Given the description of an element on the screen output the (x, y) to click on. 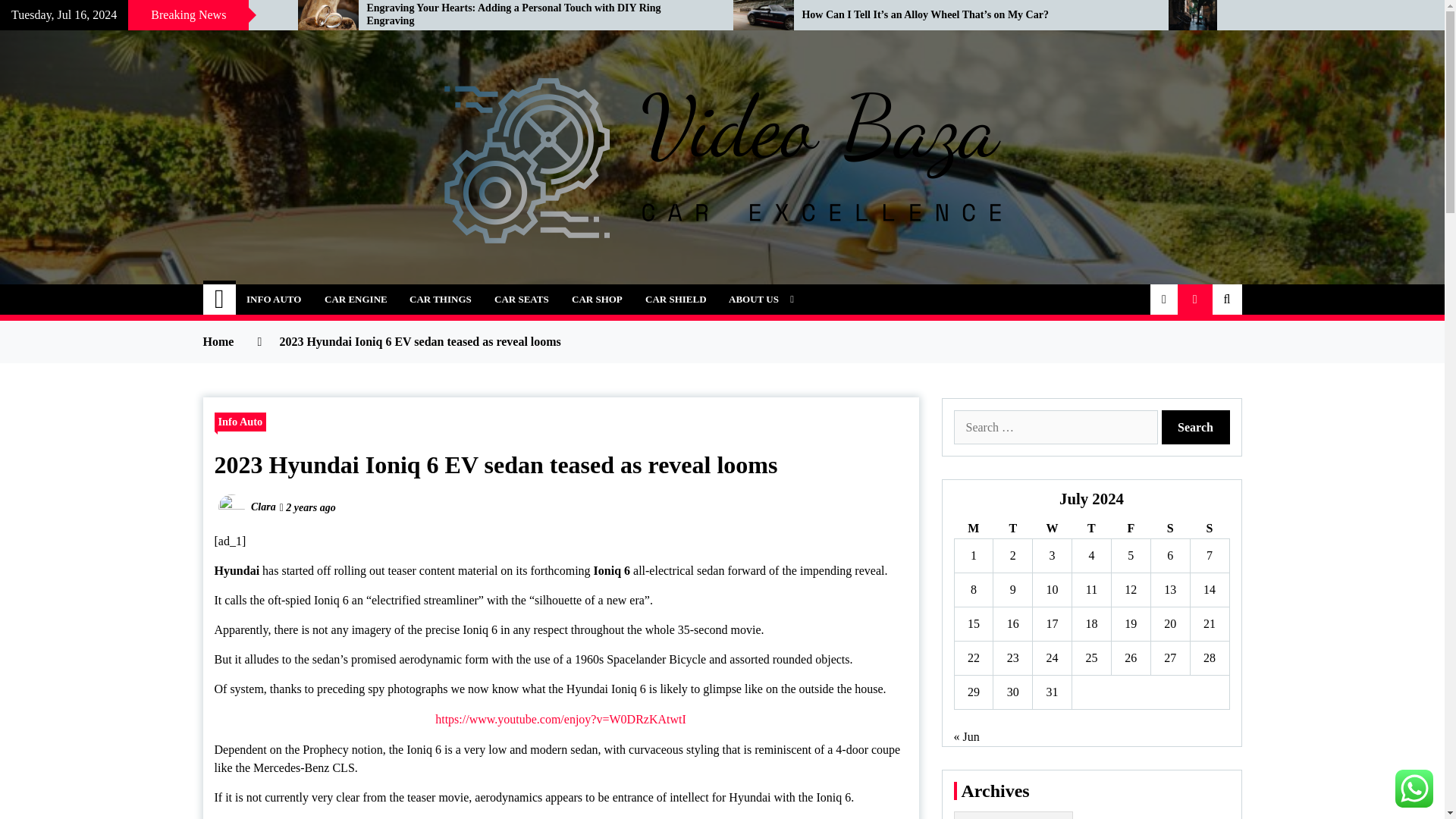
Search (1195, 427)
Wednesday (1051, 528)
Thursday (1091, 528)
Car Accident Tips (137, 15)
Sunday (1208, 528)
Saturday (1169, 528)
Search (1195, 427)
Home (219, 299)
Tuesday (1012, 528)
Friday (1130, 528)
Monday (972, 528)
